Given the description of an element on the screen output the (x, y) to click on. 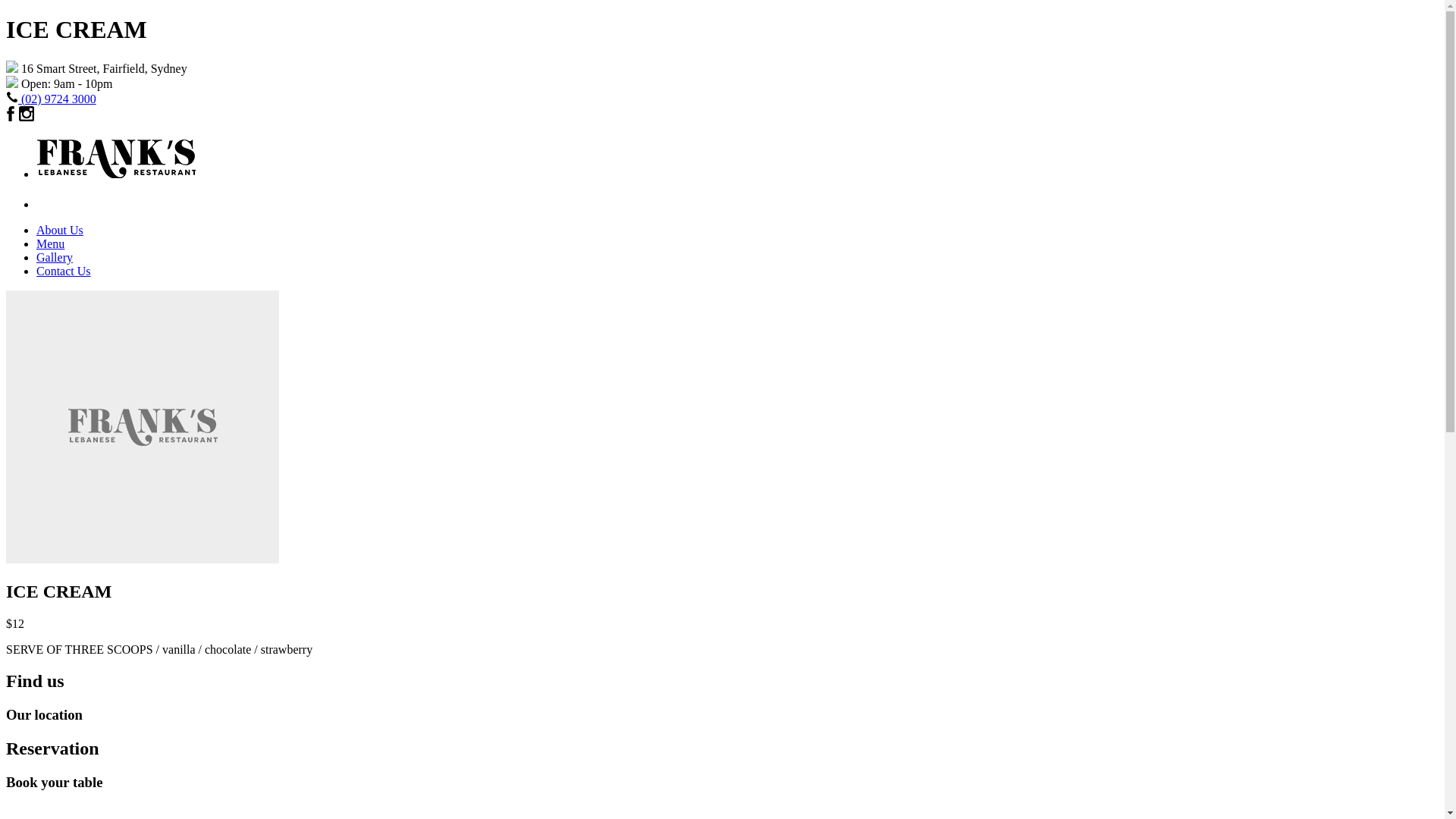
About Us Element type: text (59, 229)
Gallery Element type: text (54, 257)
(02) 9724 3000 Element type: text (58, 98)
Contact Us Element type: text (63, 270)
Menu Element type: text (50, 243)
